Given the description of an element on the screen output the (x, y) to click on. 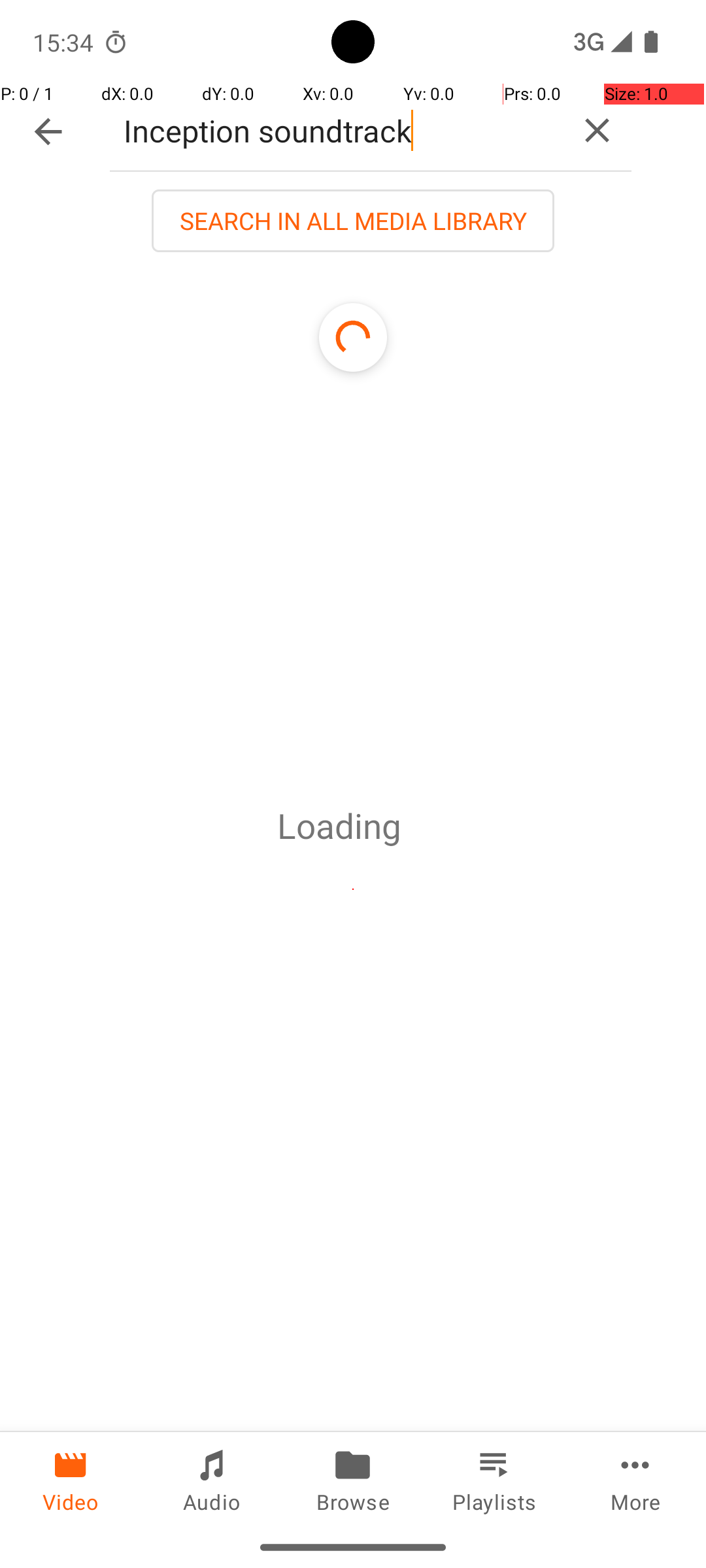
Inception soundtrack Element type: android.widget.AutoCompleteTextView (335, 130)
